Given the description of an element on the screen output the (x, y) to click on. 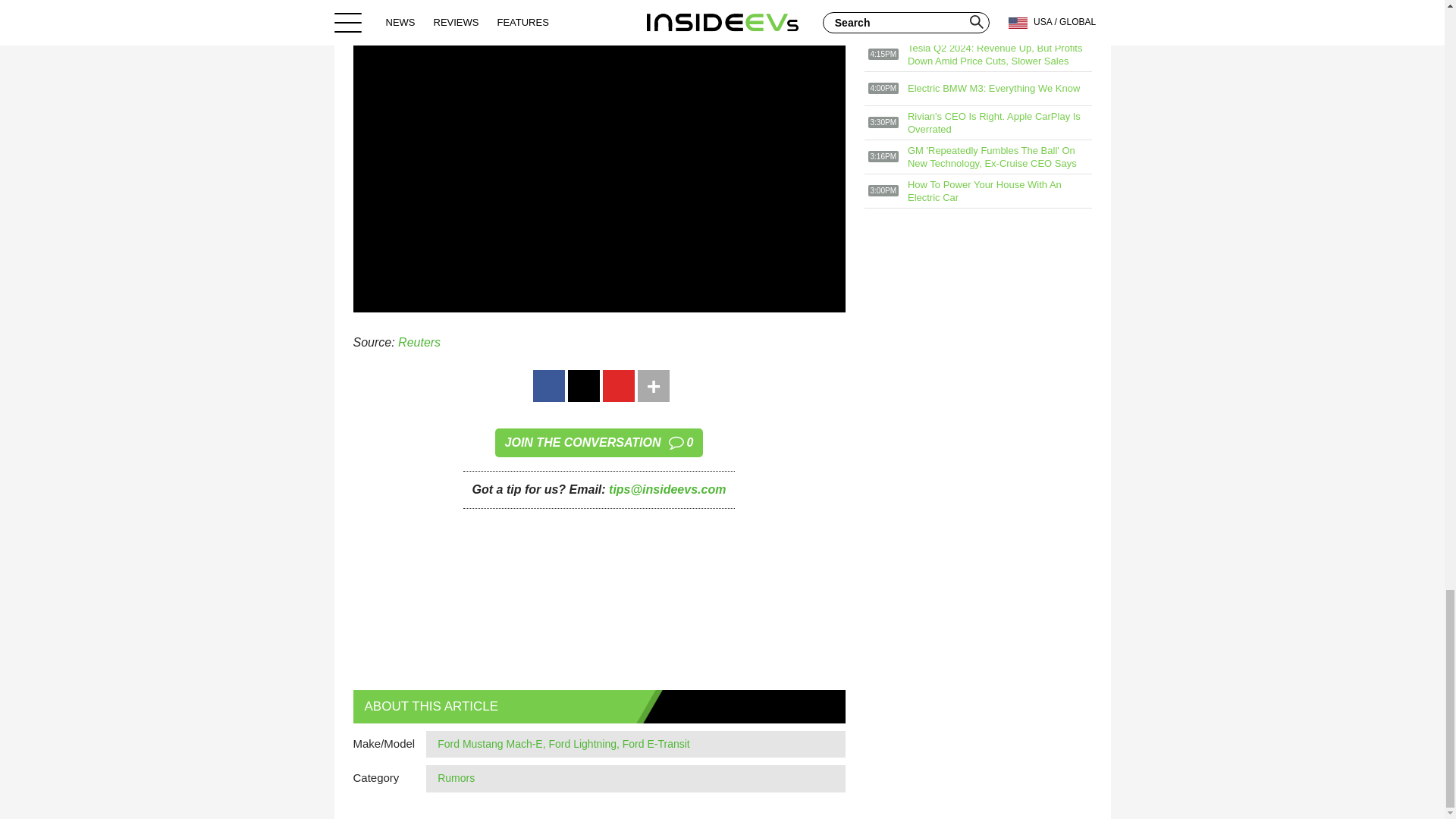
Reuters (419, 341)
